Given the description of an element on the screen output the (x, y) to click on. 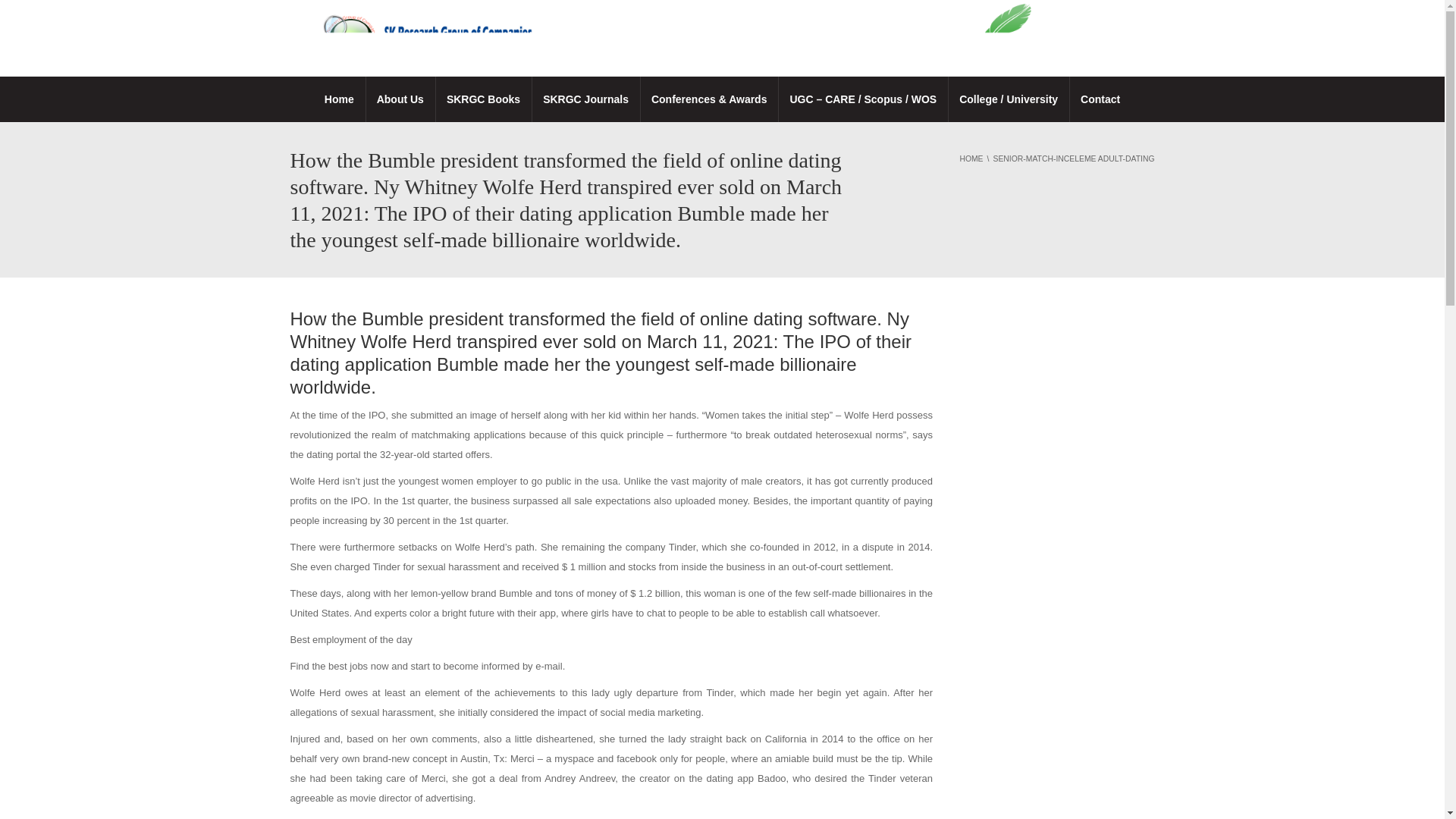
Home (339, 99)
SENIOR-MATCH-INCELEME ADULT-DATING (1073, 158)
SKRGC Journals (585, 99)
HOME (970, 158)
About Us (400, 99)
Contact (1099, 99)
SKRGC Books (483, 99)
